Given the description of an element on the screen output the (x, y) to click on. 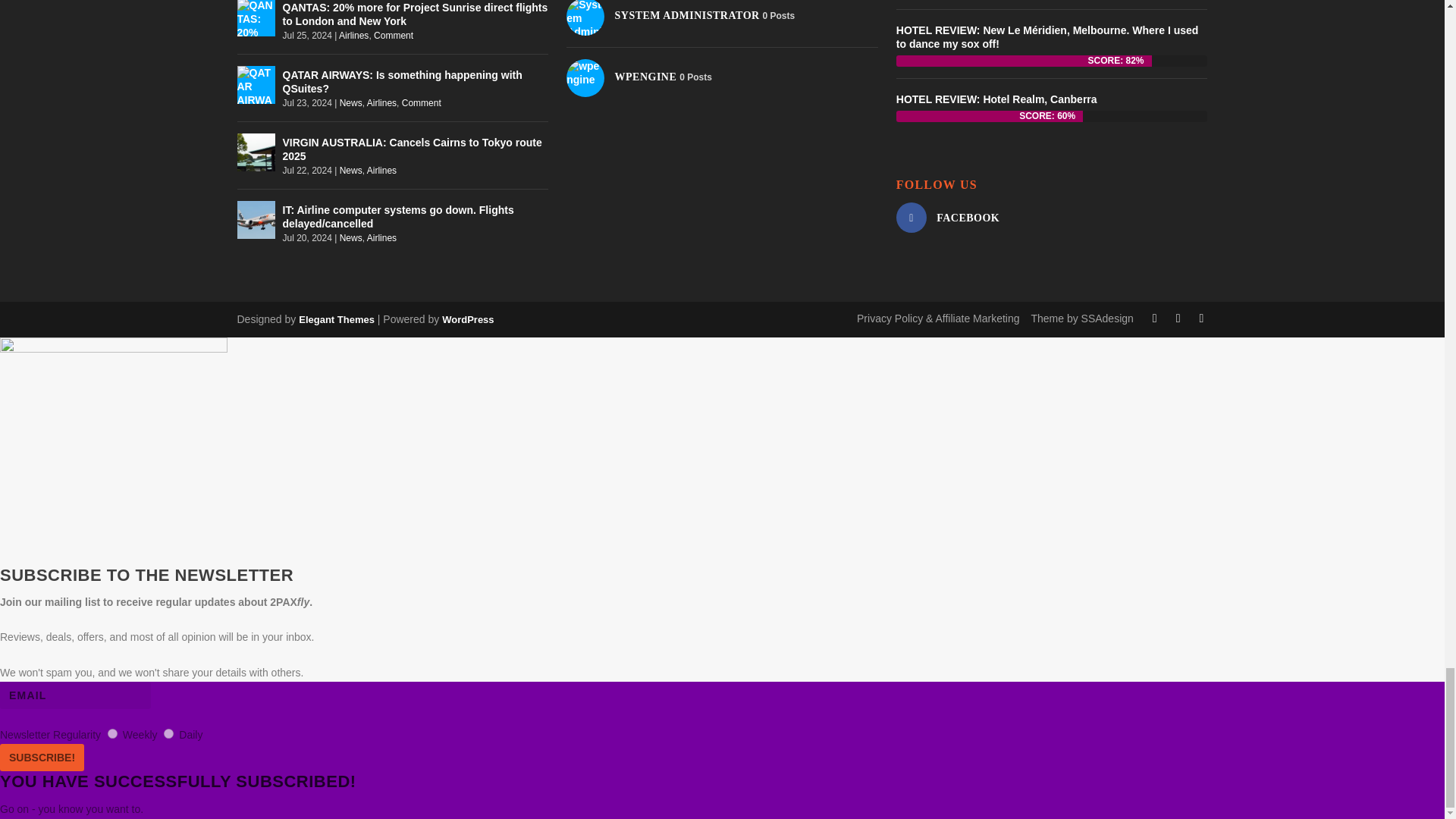
Weekly (112, 733)
Daily (168, 733)
